Given the description of an element on the screen output the (x, y) to click on. 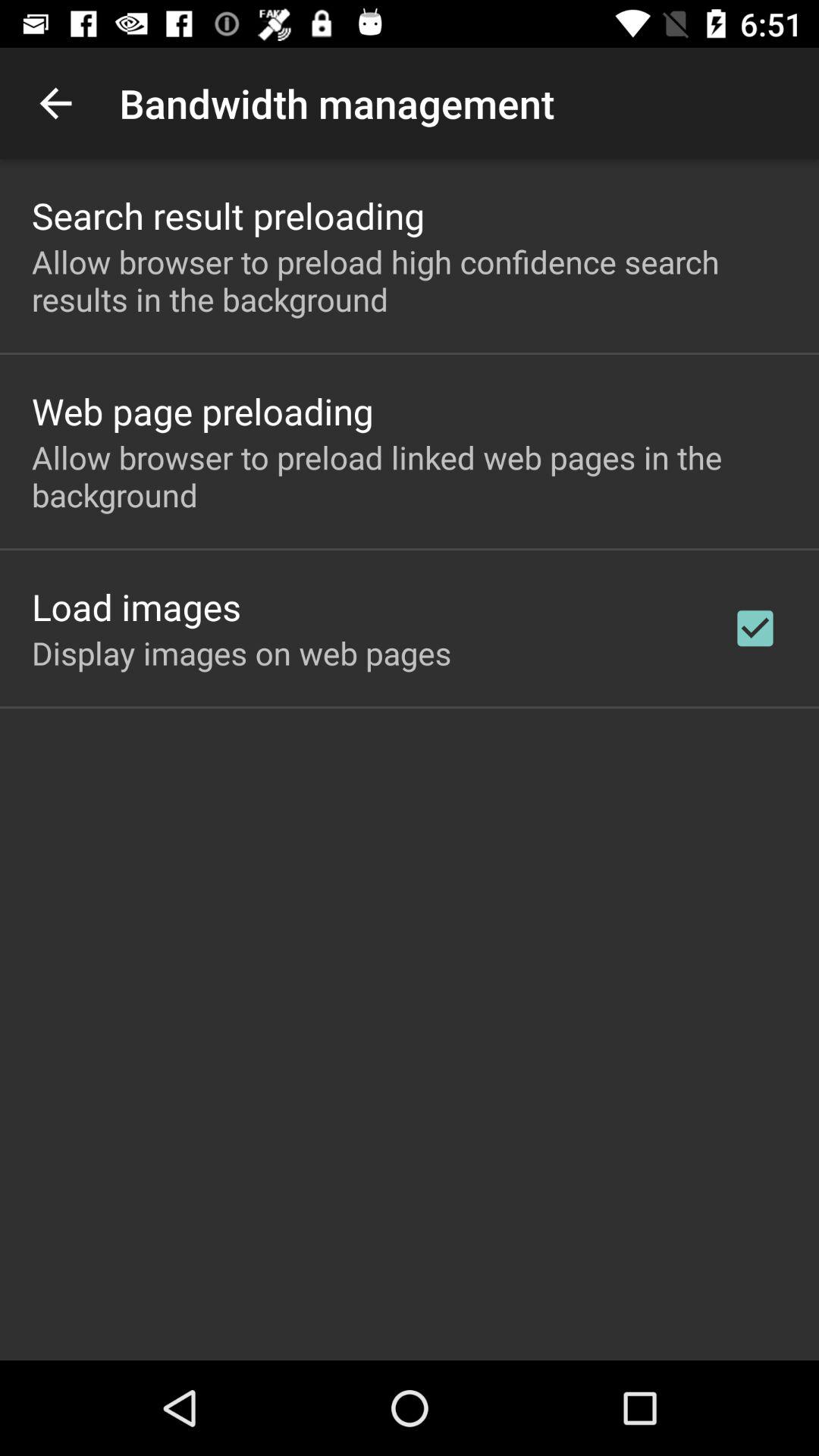
open the icon next to bandwidth management item (55, 103)
